Given the description of an element on the screen output the (x, y) to click on. 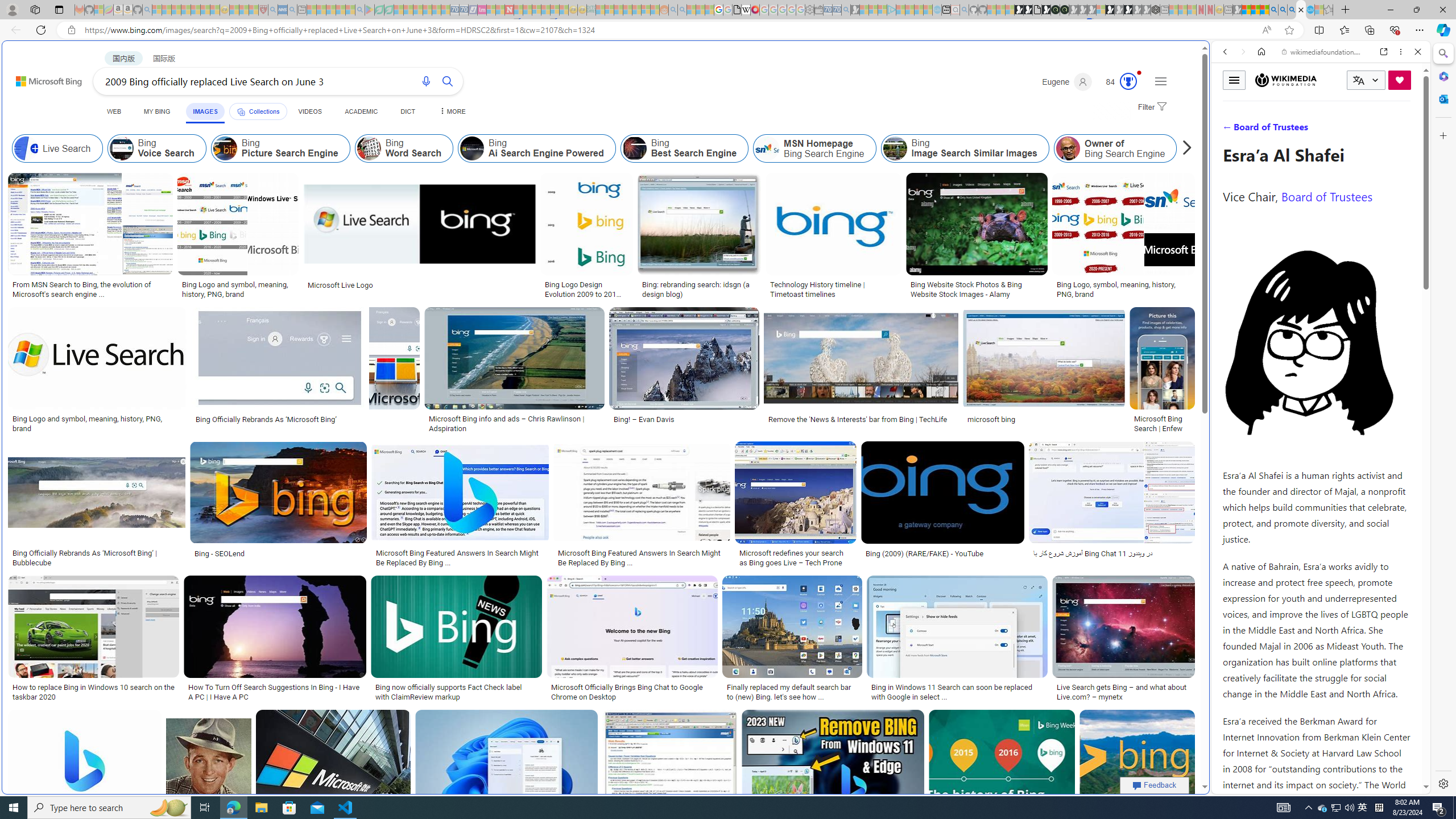
microsoft bing (1043, 419)
Search the web (1326, 78)
Wallet - Sleeping (818, 9)
This site scope (1259, 102)
Bing Word Search (368, 148)
Filter (1150, 107)
Bing Best Search Engine (684, 148)
Settings - Sleeping (809, 9)
Https Bing Search Q MSN (1234, 148)
Terms of Use Agreement - Sleeping (378, 9)
google_privacy_policy_zh-CN.pdf (736, 9)
